Given the description of an element on the screen output the (x, y) to click on. 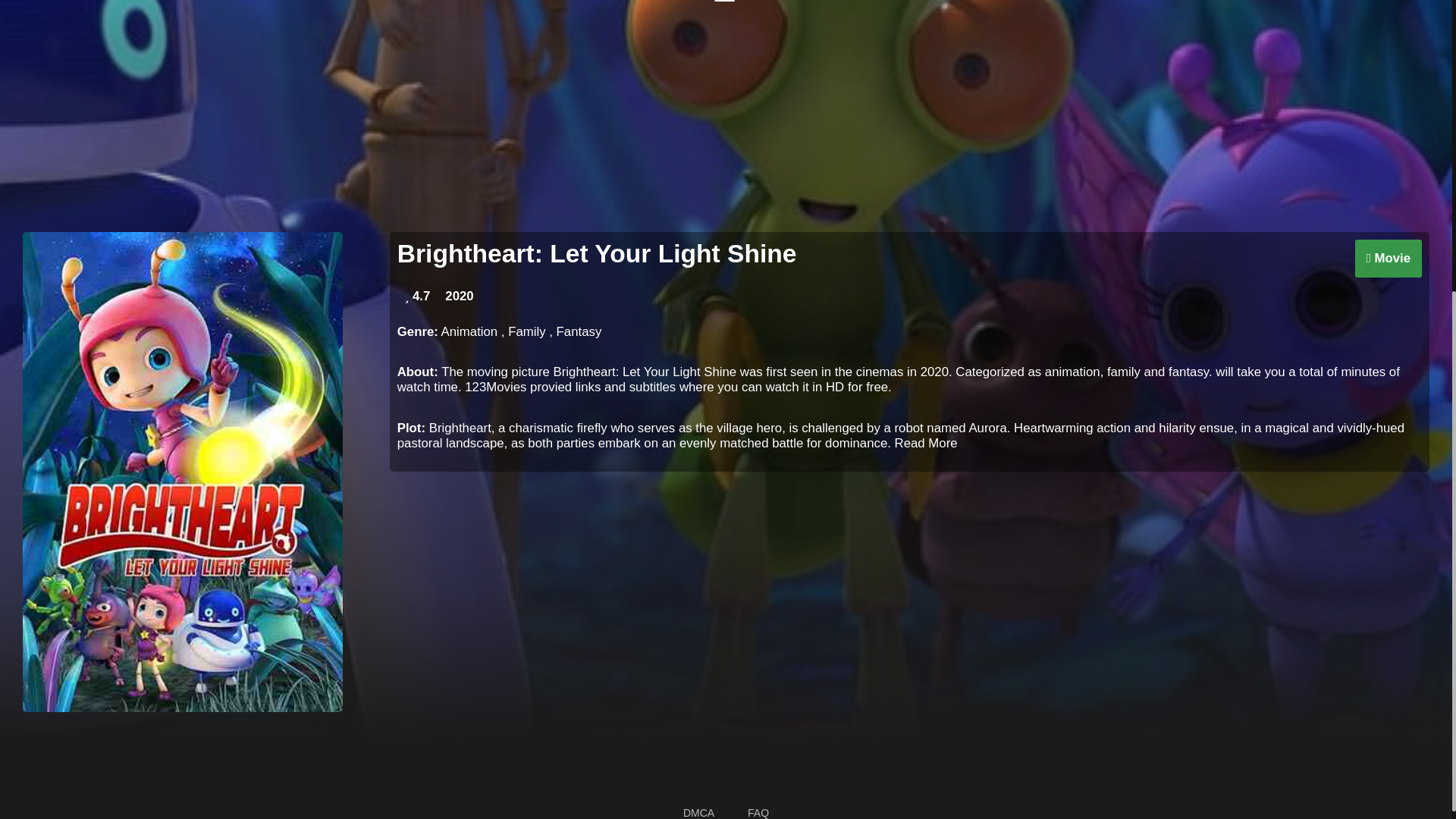
Rating (417, 296)
Read More (926, 442)
Release date (459, 296)
